Given the description of an element on the screen output the (x, y) to click on. 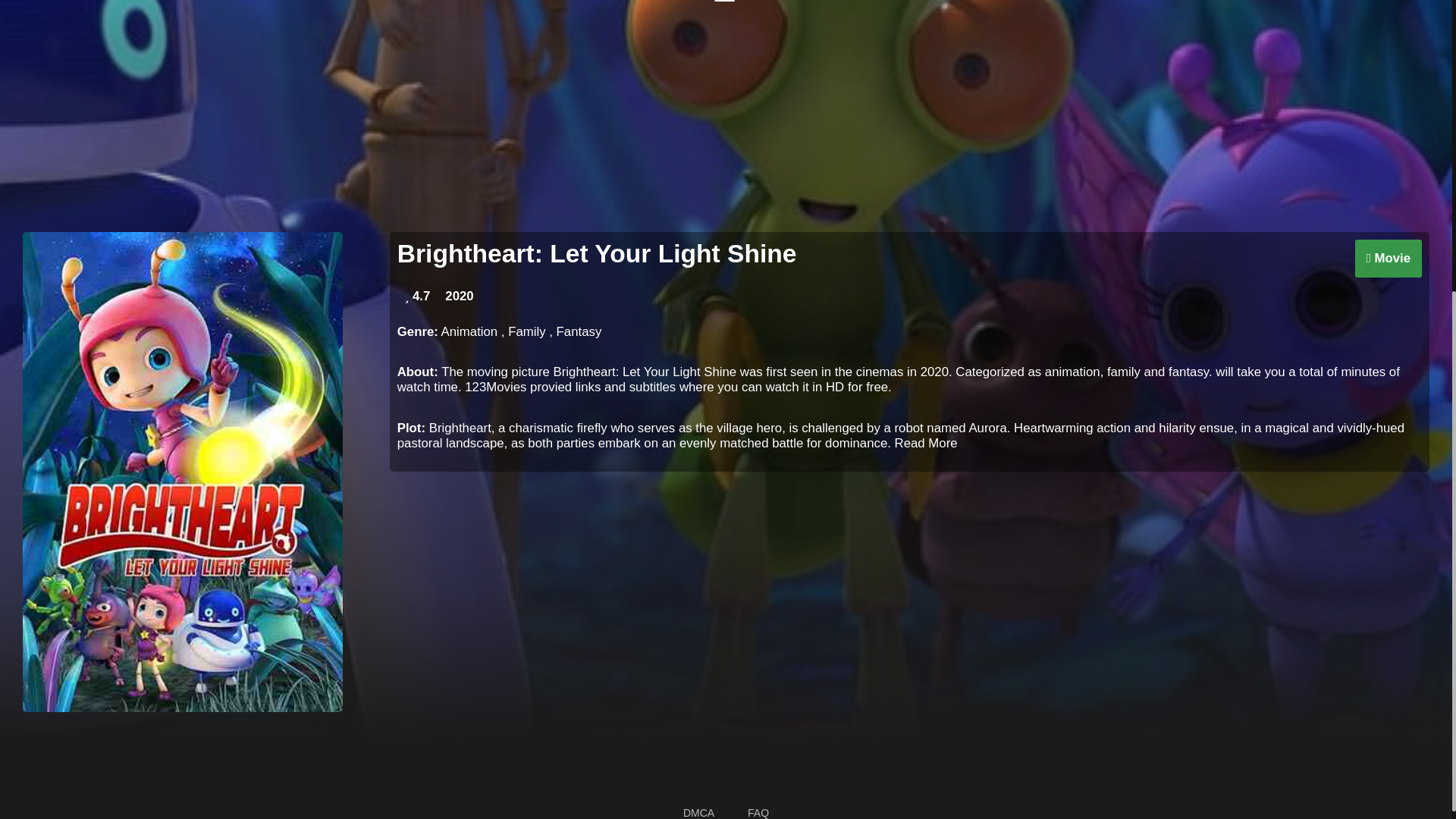
Rating (417, 296)
Read More (926, 442)
Release date (459, 296)
